Given the description of an element on the screen output the (x, y) to click on. 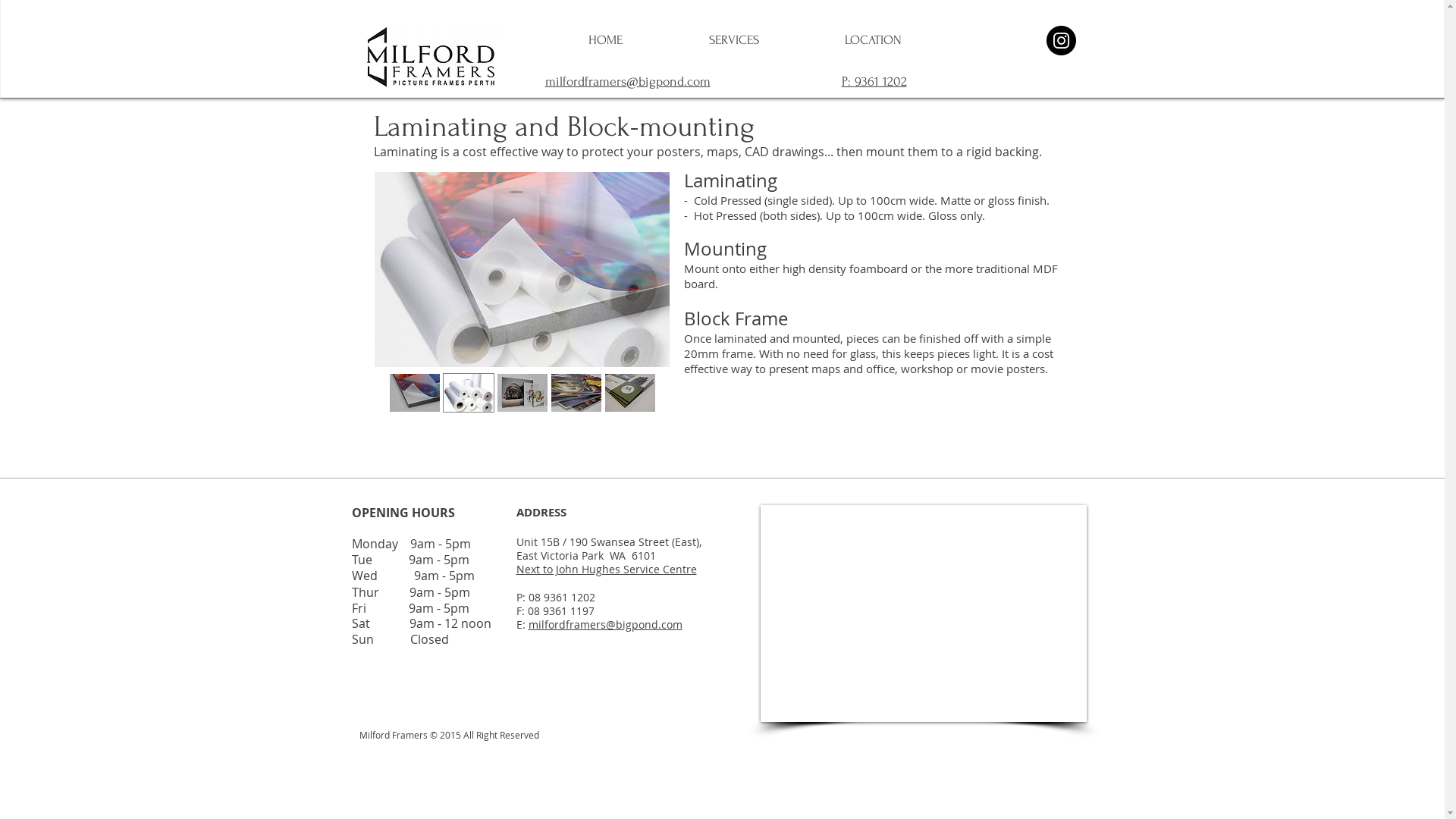
Google Maps Element type: hover (922, 613)
MF logo.jpg Element type: hover (433, 56)
P: 9361 1202 Element type: text (873, 81)
LOCATION Element type: text (873, 44)
milfordframers@bigpond.com Element type: text (604, 624)
milfordframers@bigpond.com Element type: text (626, 81)
HOME Element type: text (604, 44)
Facebook Like Element type: hover (378, 764)
